Given the description of an element on the screen output the (x, y) to click on. 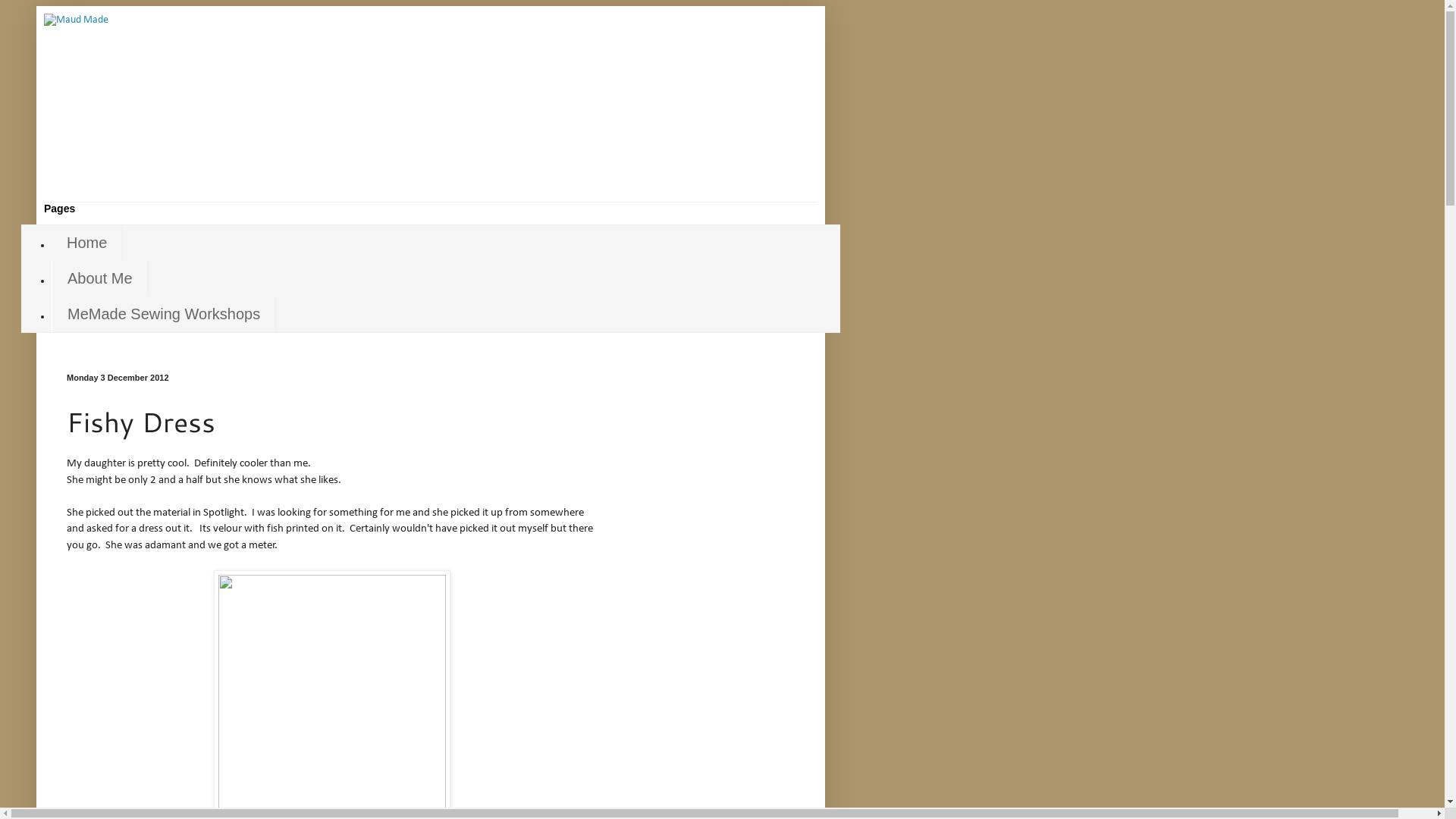
Home Element type: text (86, 242)
About Me Element type: text (99, 278)
MeMade Sewing Workshops Element type: text (163, 314)
